Given the description of an element on the screen output the (x, y) to click on. 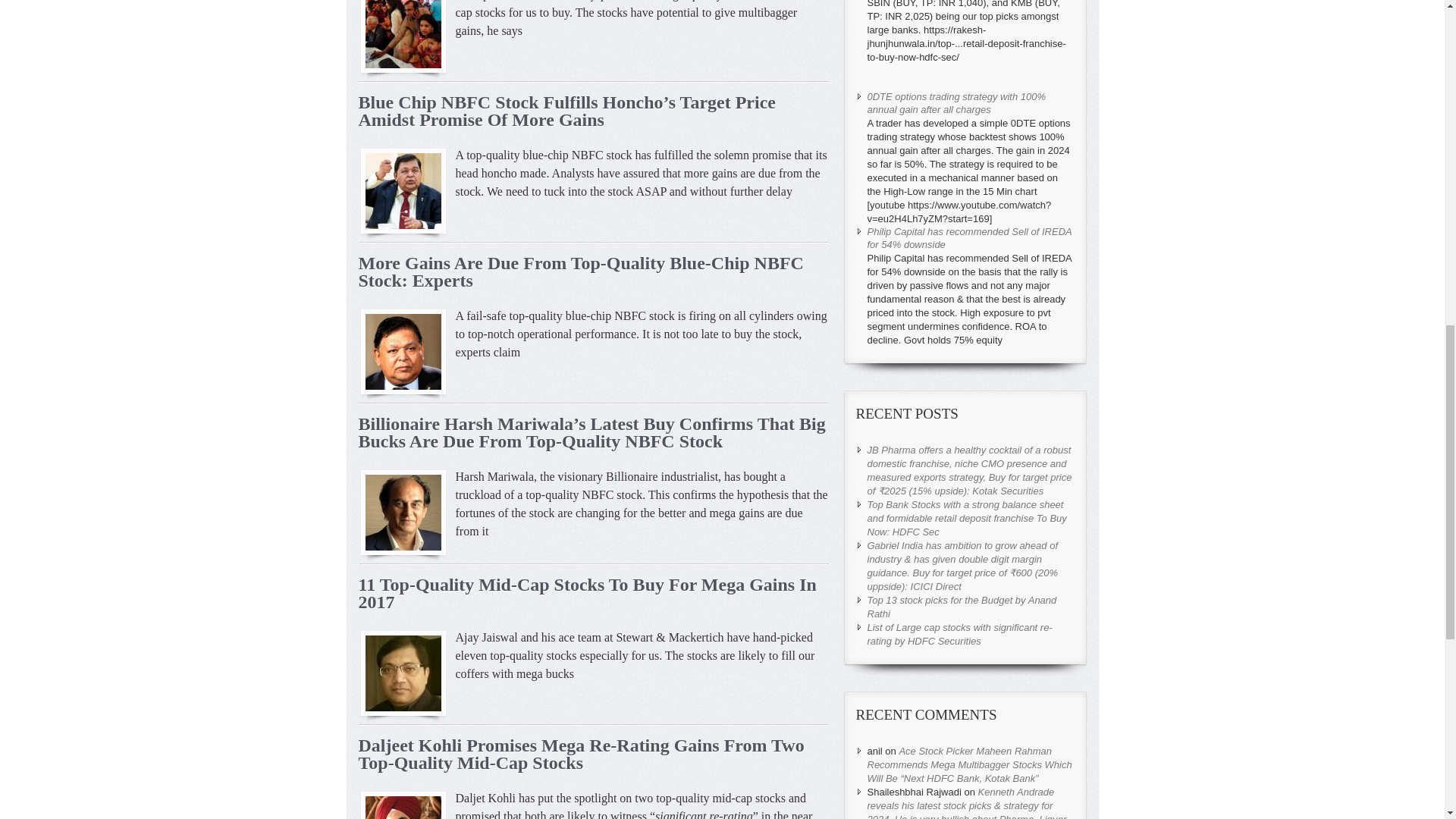
Top 13 stock picks for the Budget by Anand Rathi (962, 606)
11 Top-Quality Mid-Cap Stocks To Buy For Mega Gains In 2017 (586, 592)
